Given the description of an element on the screen output the (x, y) to click on. 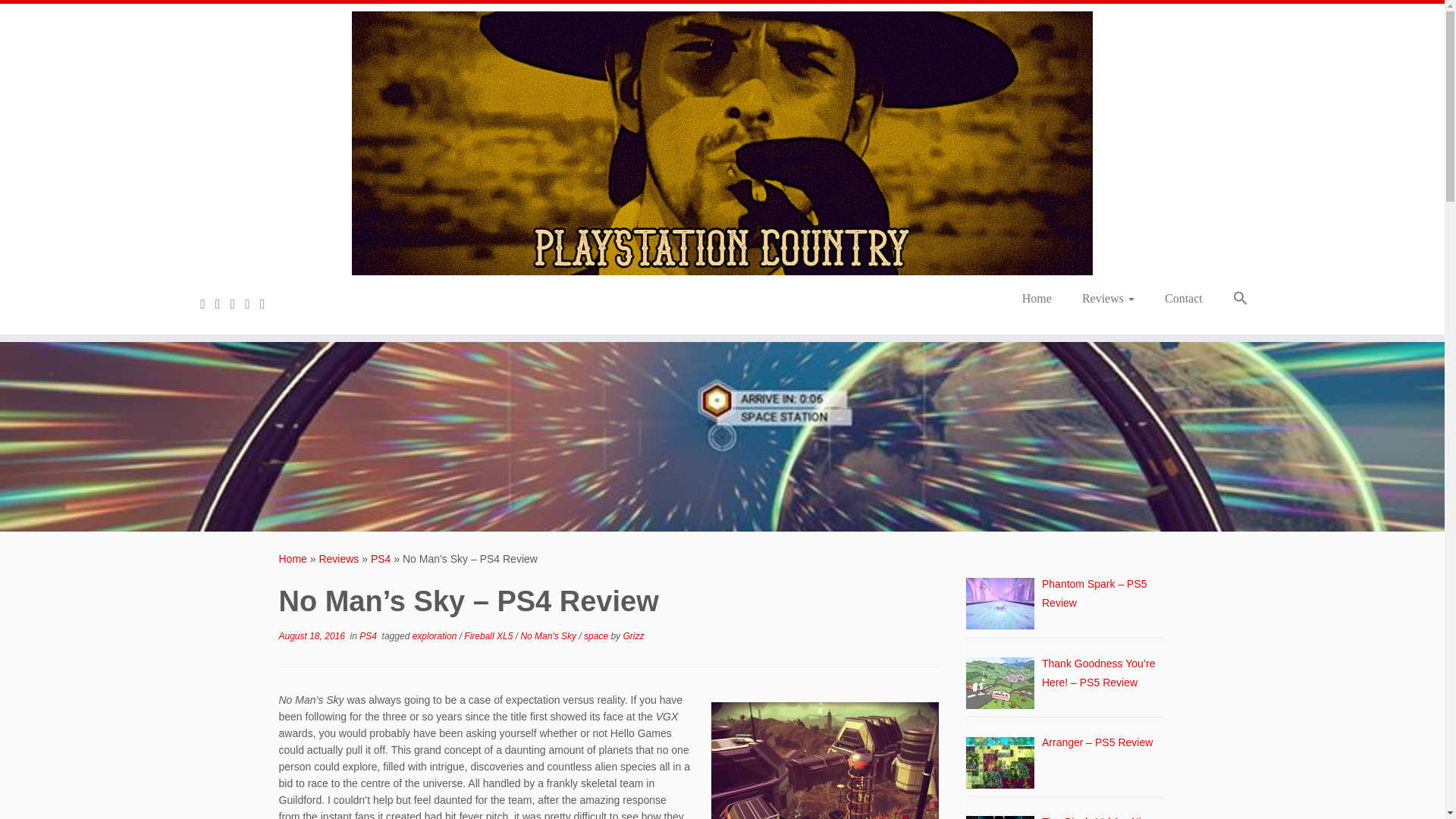
PS4 (368, 635)
Contact us! (267, 304)
PS4 (380, 558)
exploration (436, 635)
Fireball XL5 (489, 635)
View all posts in exploration (436, 635)
Follow us on Twitter (207, 304)
No Man's Sky (548, 635)
Grizz (633, 635)
PS4 (380, 558)
